Given the description of an element on the screen output the (x, y) to click on. 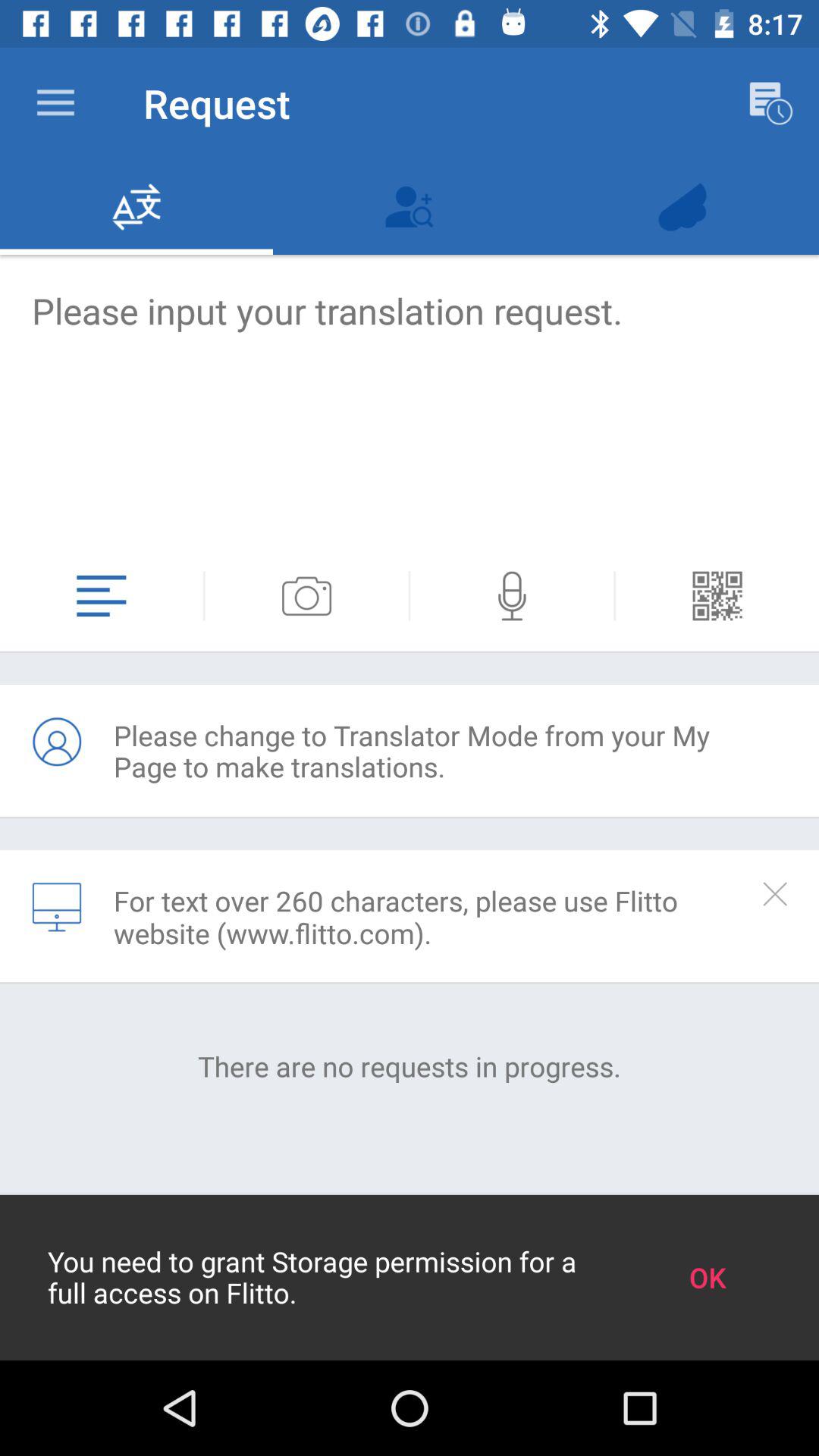
select the ok at the bottom right corner (707, 1277)
